Given the description of an element on the screen output the (x, y) to click on. 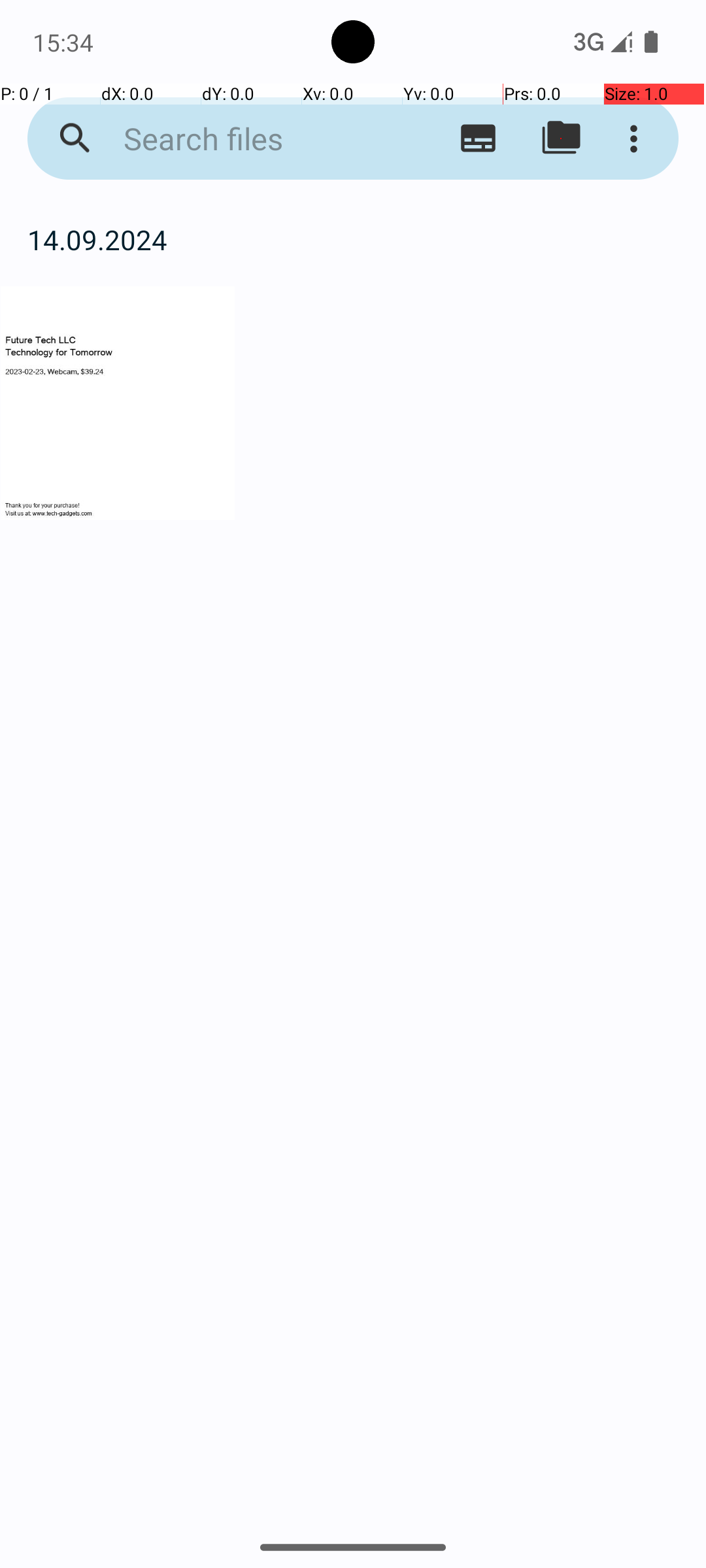
Search files Element type: android.widget.EditText (252, 138)
Switch to folder view Element type: android.widget.Button (560, 138)
14.09.2024 Element type: android.widget.TextView (353, 239)
